Given the description of an element on the screen output the (x, y) to click on. 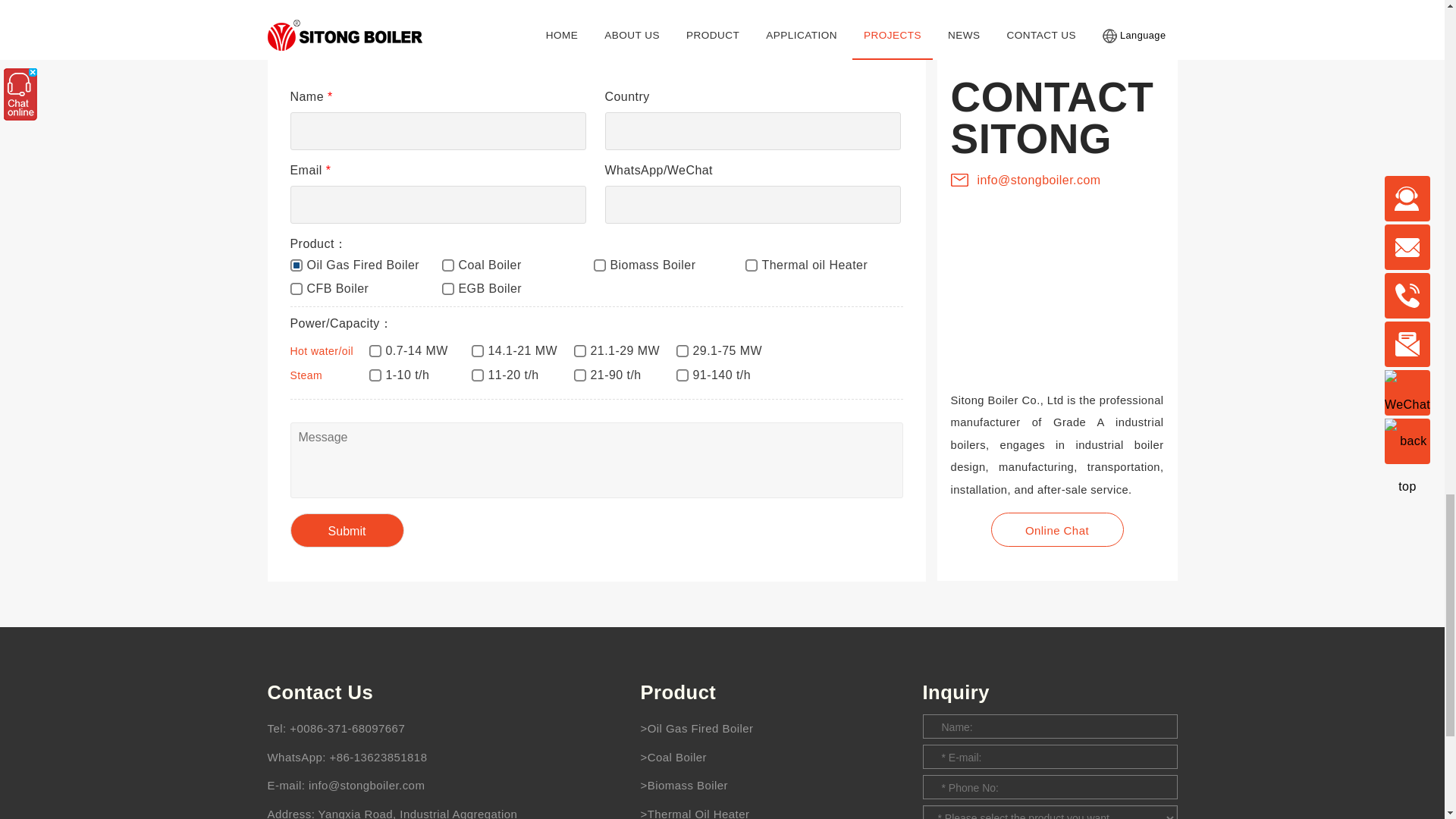
Submit (346, 530)
Click to contact us by whatsapp (403, 757)
